Given the description of an element on the screen output the (x, y) to click on. 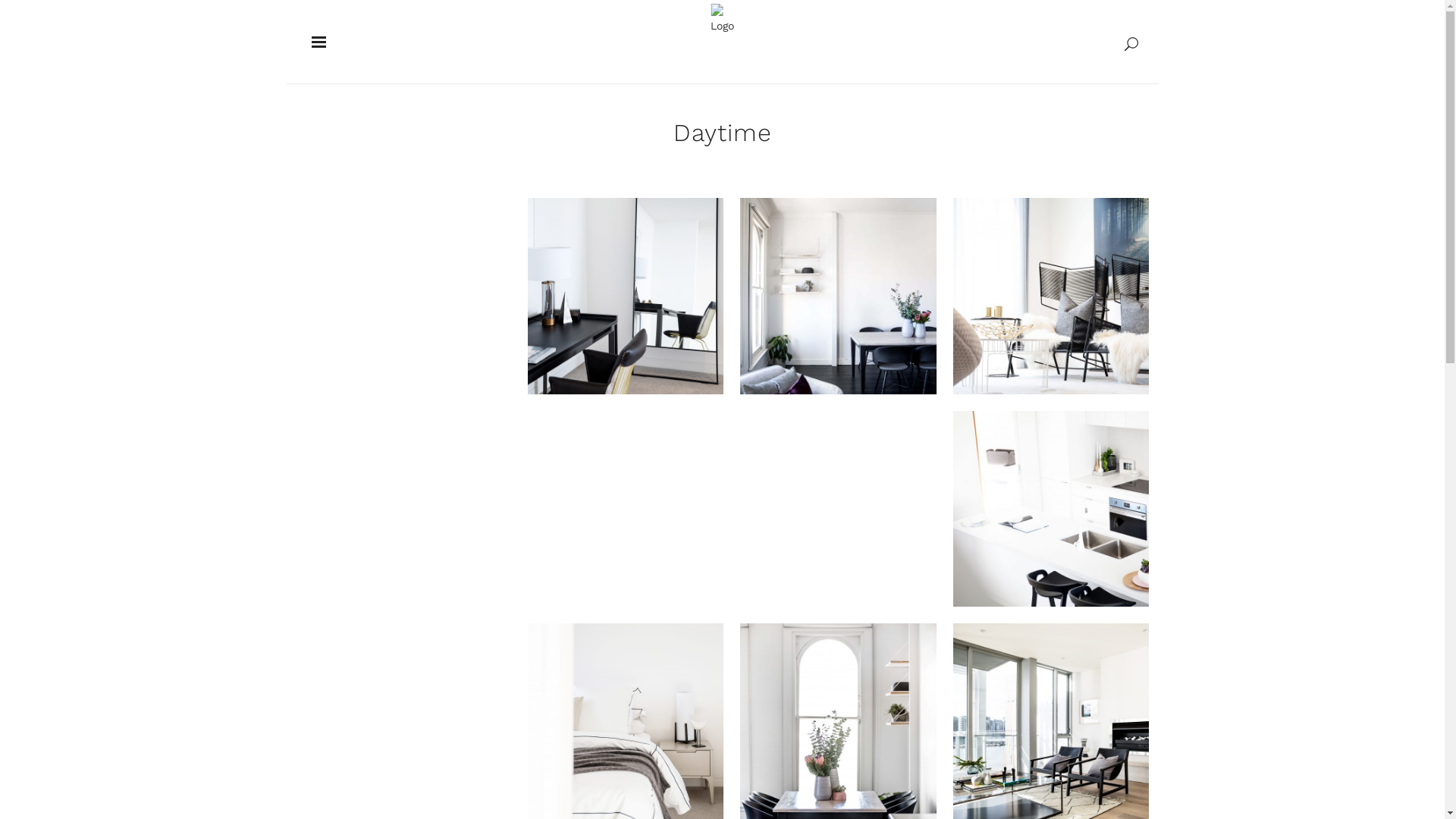
  Element type: text (314, 41)
